Given the description of an element on the screen output the (x, y) to click on. 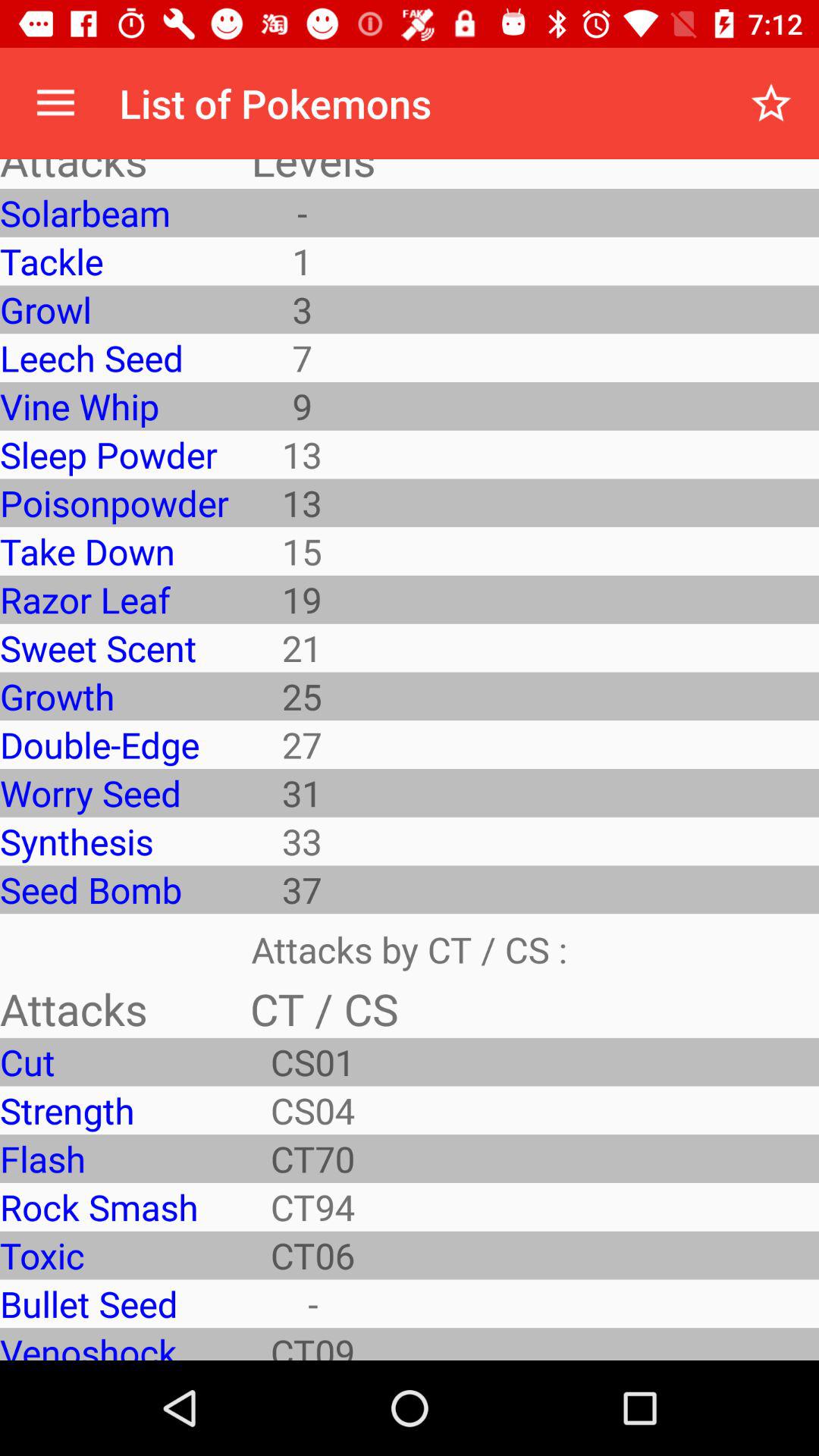
flip until the poisonpowder icon (114, 502)
